Given the description of an element on the screen output the (x, y) to click on. 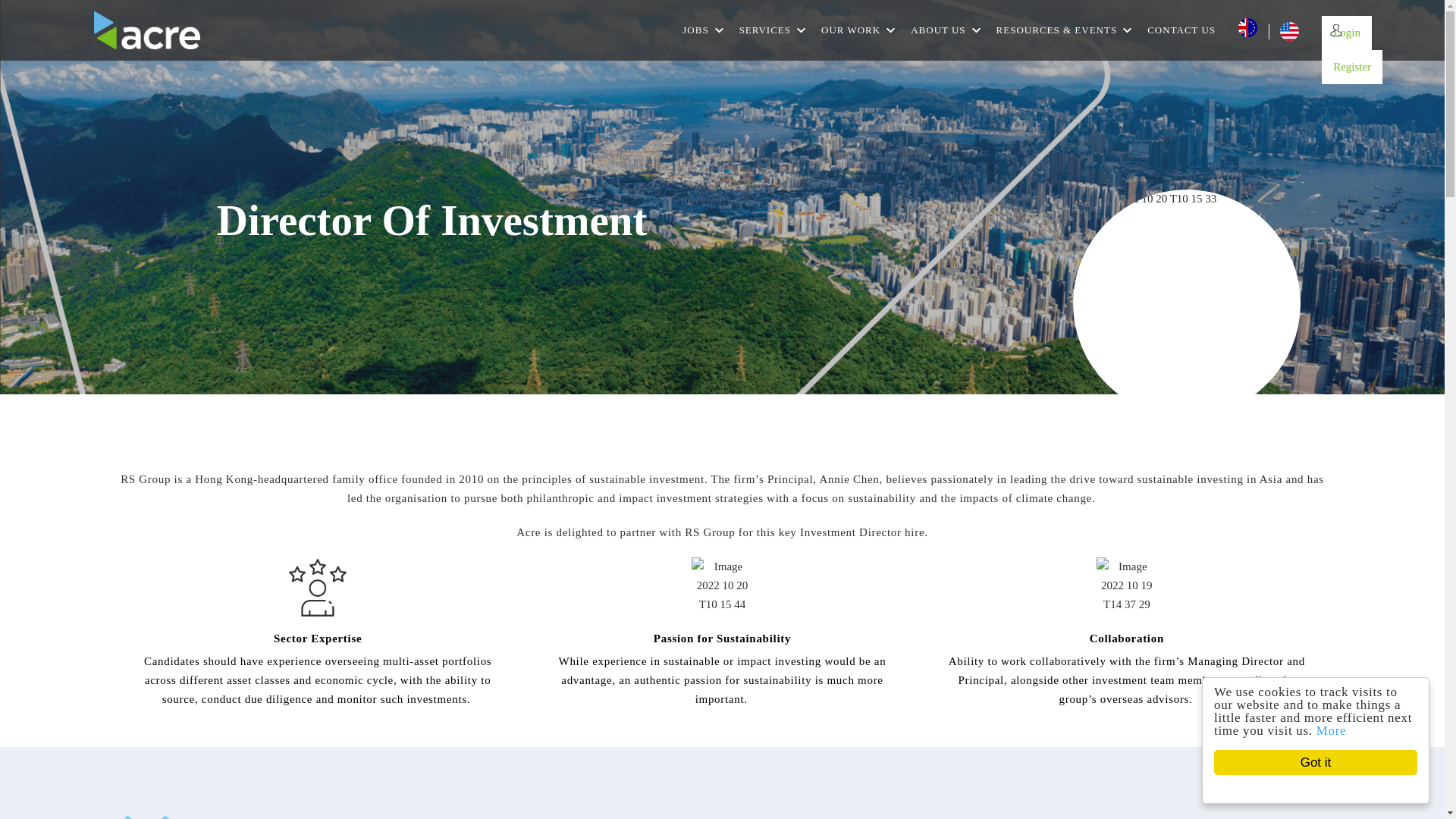
Got it (1330, 762)
Cookie Consent plugin for the EU cookie law (1329, 788)
Go to the Homepage (147, 30)
More (1345, 730)
